Given the description of an element on the screen output the (x, y) to click on. 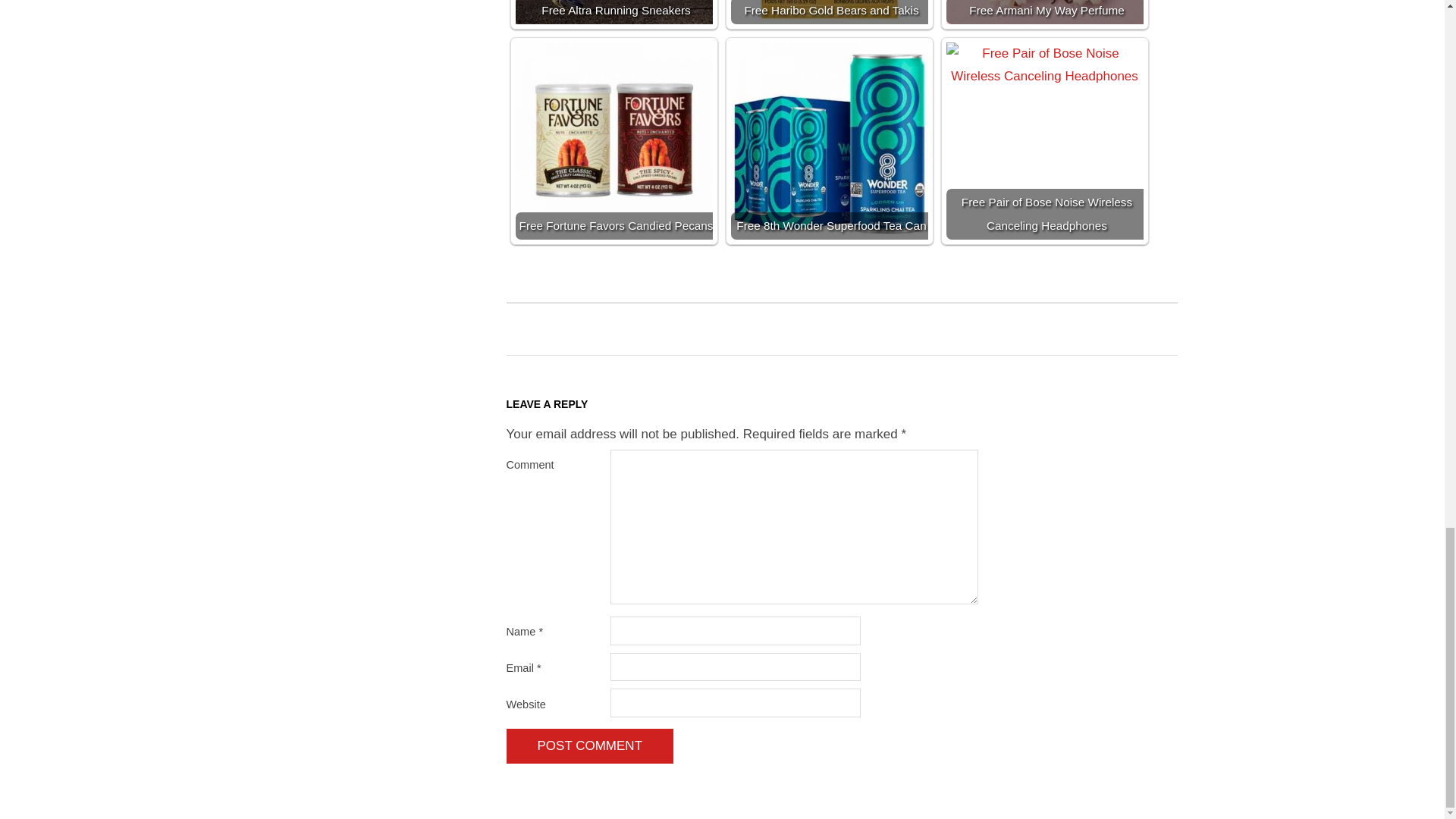
Free Pair of Bose Noise Wireless Canceling Headphones (1044, 140)
Free Haribo Gold Bears and Takis (829, 12)
Free Armani My Way Perfume (1044, 12)
Post Comment (590, 745)
Free Altra Running Sneakers (614, 12)
Free Armani My Way Perfume (1044, 12)
Free Altra Running Sneakers (614, 12)
Free Fortune Favors Candied Pecans (614, 140)
Post Comment (590, 745)
Free Haribo Gold Bears and Takis (829, 12)
